Given the description of an element on the screen output the (x, y) to click on. 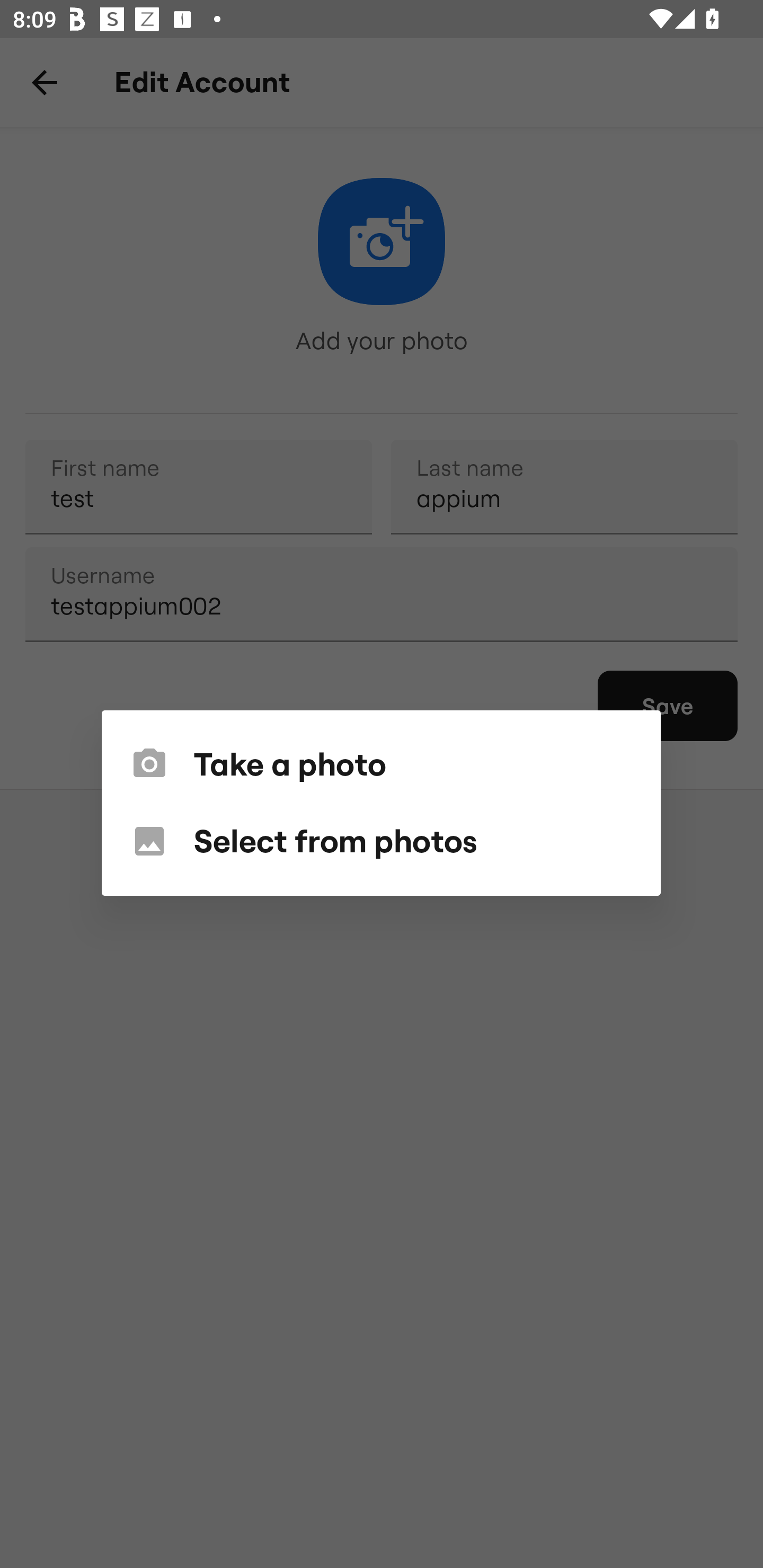
Take a photo (380, 763)
Select from photos (380, 840)
